Given the description of an element on the screen output the (x, y) to click on. 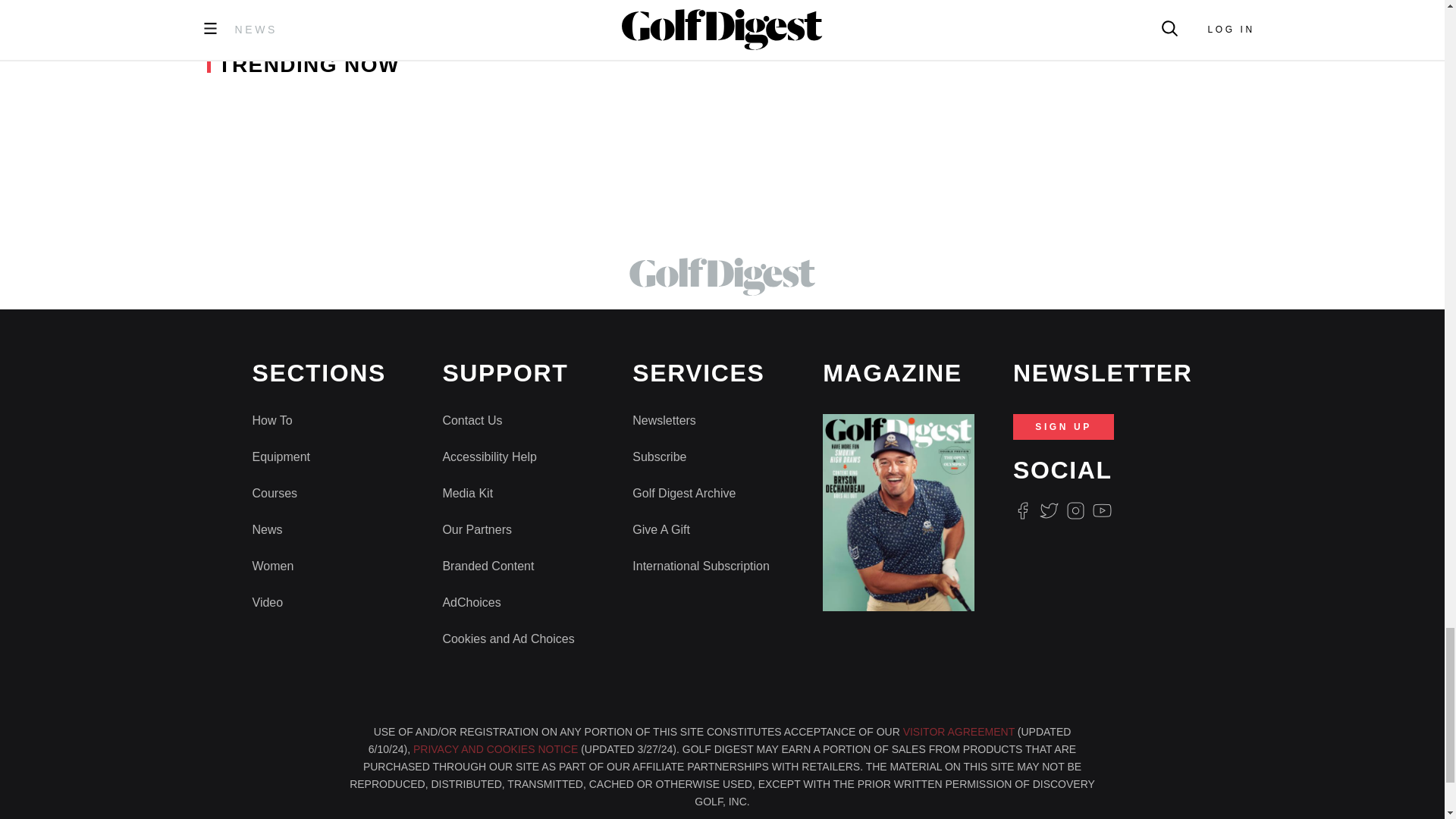
Twitter Logo (1048, 510)
Facebook Logo (1022, 510)
Instagram Logo (1074, 510)
Youtube Icon (1102, 510)
